Given the description of an element on the screen output the (x, y) to click on. 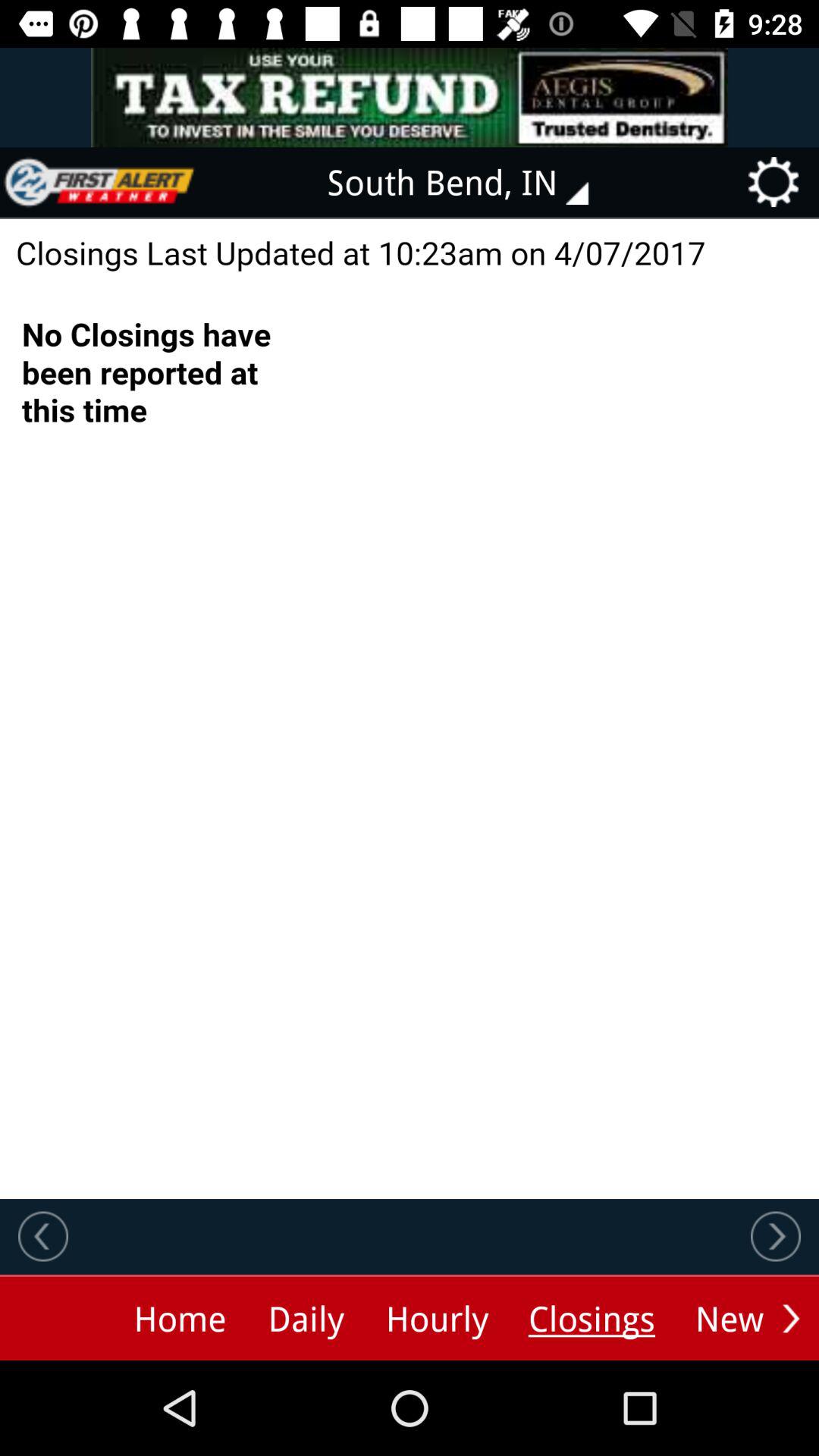
go to previous (43, 1236)
